Given the description of an element on the screen output the (x, y) to click on. 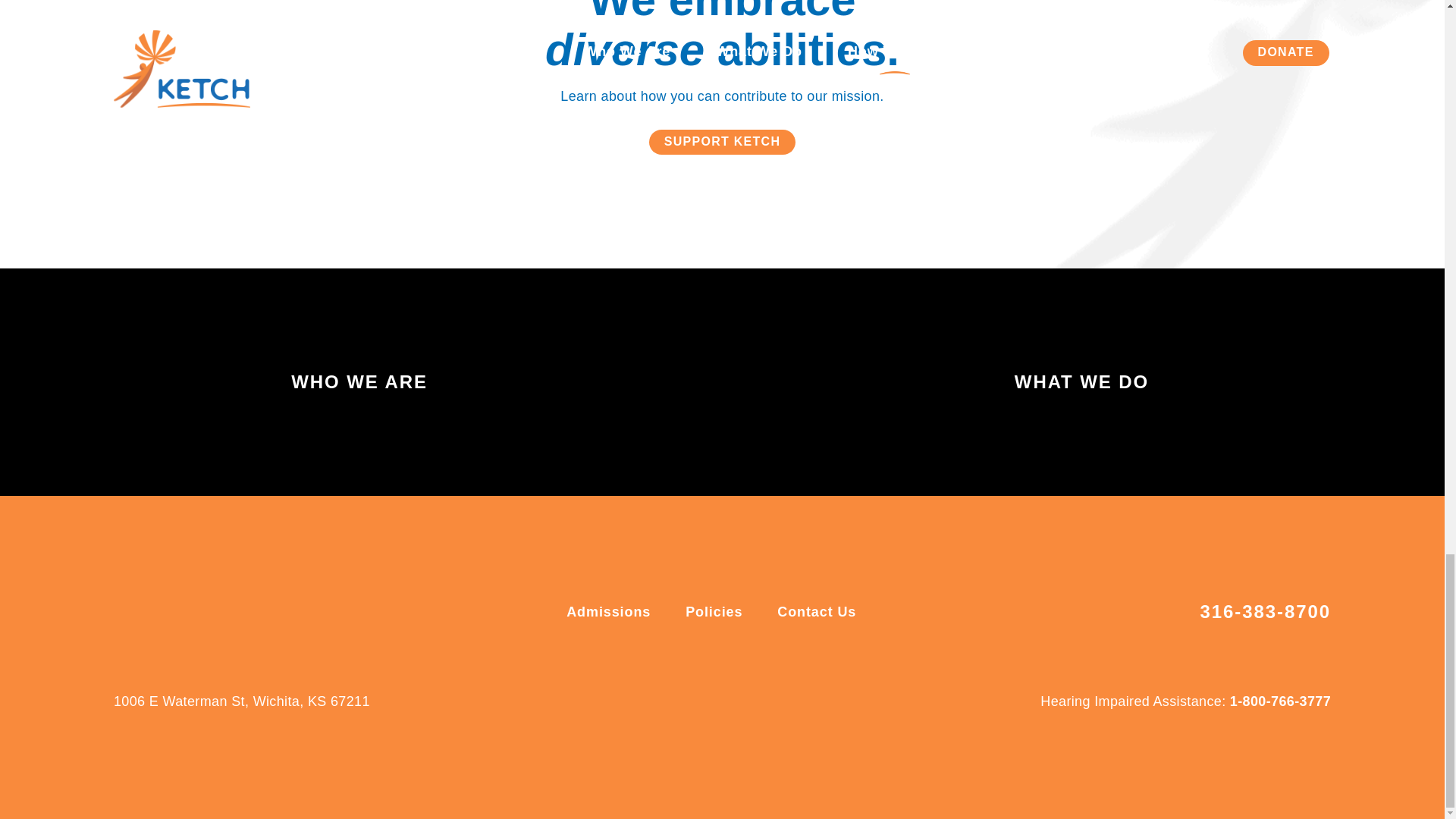
KETCH on Facebook (699, 700)
Admissions (610, 611)
SUPPORT KETCH (722, 141)
Contact Us (815, 611)
1006 E Waterman St, Wichita, KS 67211 (241, 701)
KETCH on Twitter (744, 700)
316-383-8700 (1264, 611)
Policies (715, 611)
